Given the description of an element on the screen output the (x, y) to click on. 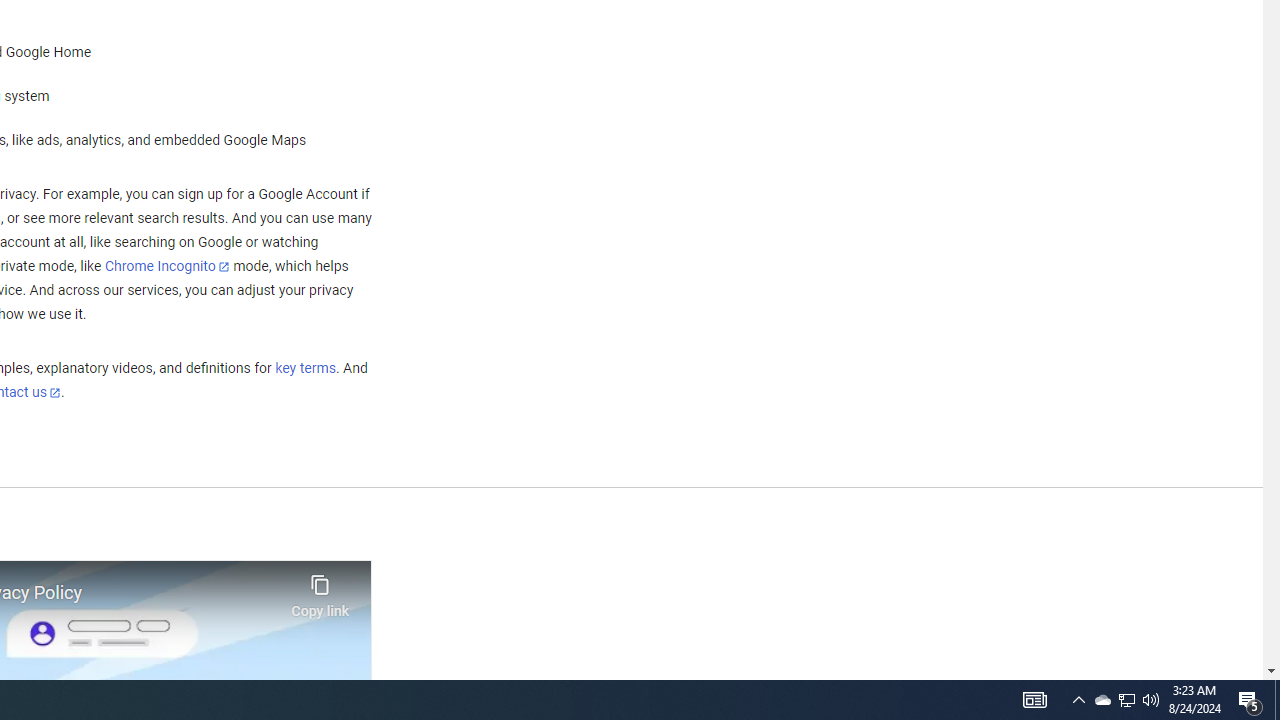
key terms (305, 369)
Copy link (319, 591)
Chrome Incognito (166, 266)
